Given the description of an element on the screen output the (x, y) to click on. 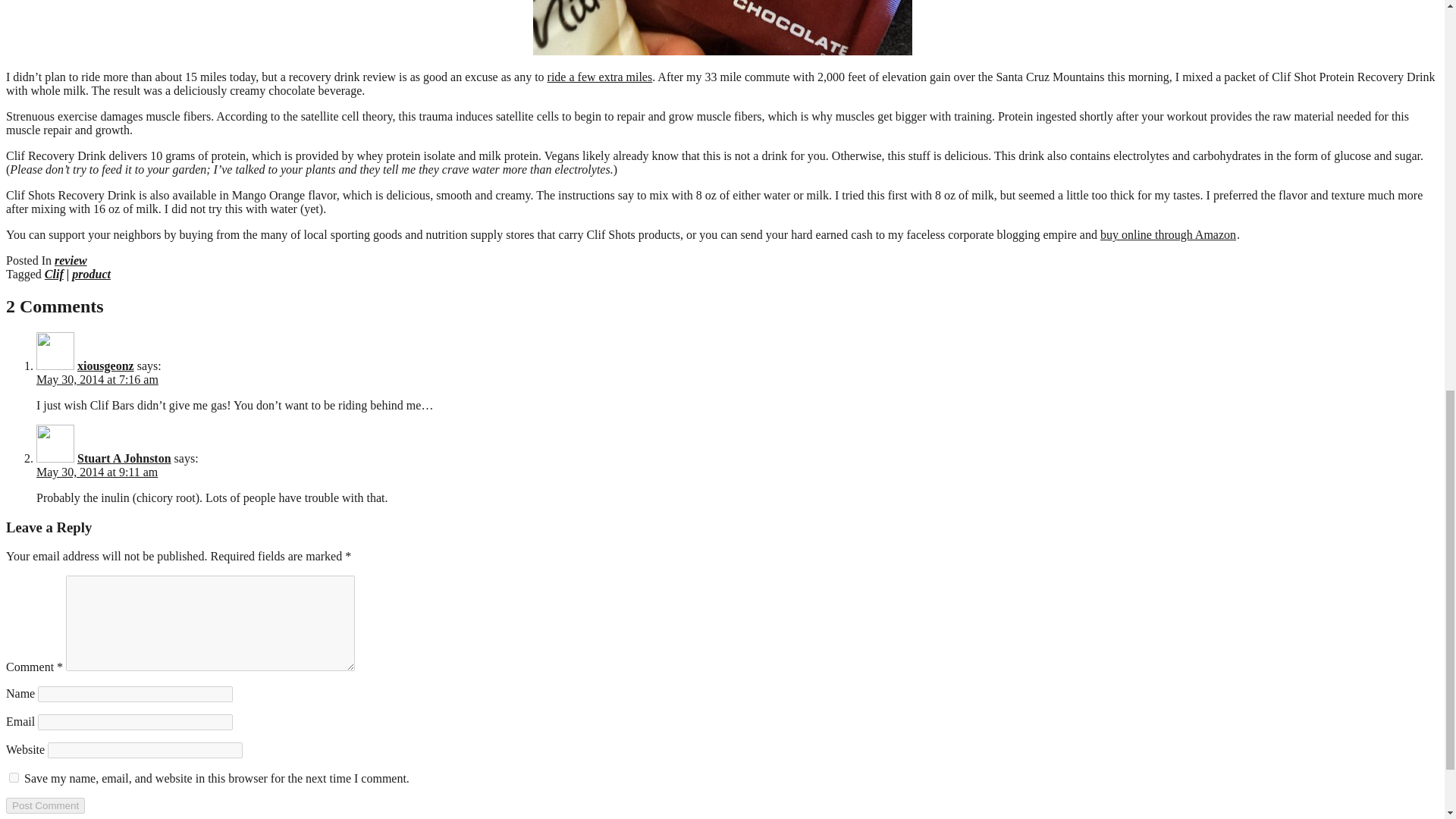
Post Comment (44, 805)
review (71, 259)
xiousgeonz (105, 365)
May 30, 2014 at 7:16 am (97, 379)
Post Comment (44, 805)
yes (13, 777)
buy online through Amazon (1168, 234)
Clif (54, 273)
Stuart A Johnston (124, 458)
product (90, 273)
ride a few extra miles (599, 76)
May 30, 2014 at 9:11 am (96, 472)
